Given the description of an element on the screen output the (x, y) to click on. 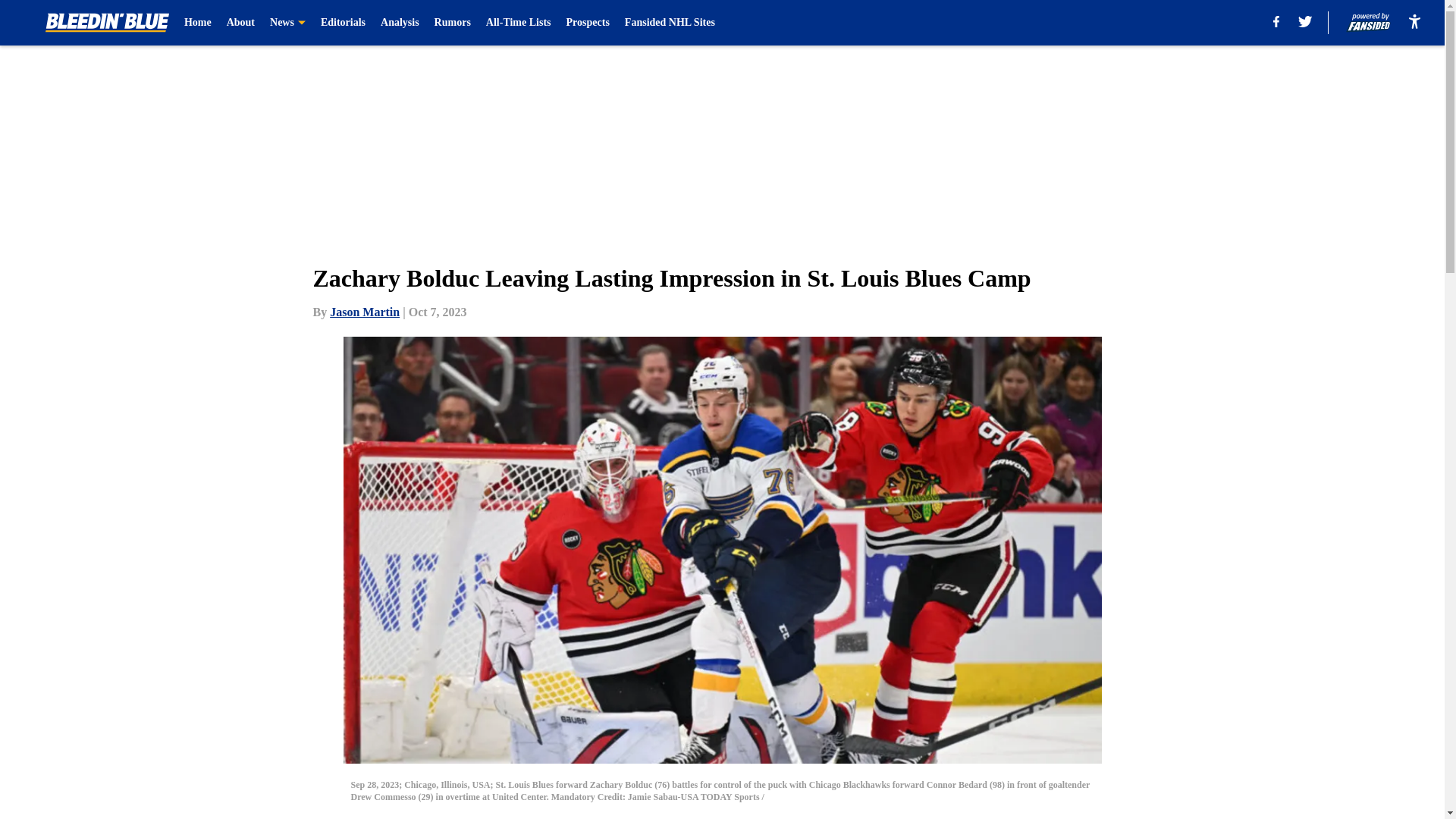
All-Time Lists (518, 22)
Rumors (451, 22)
Prospects (588, 22)
About (240, 22)
Home (197, 22)
Fansided NHL Sites (669, 22)
Jason Martin (364, 311)
Editorials (342, 22)
Analysis (399, 22)
